Given the description of an element on the screen output the (x, y) to click on. 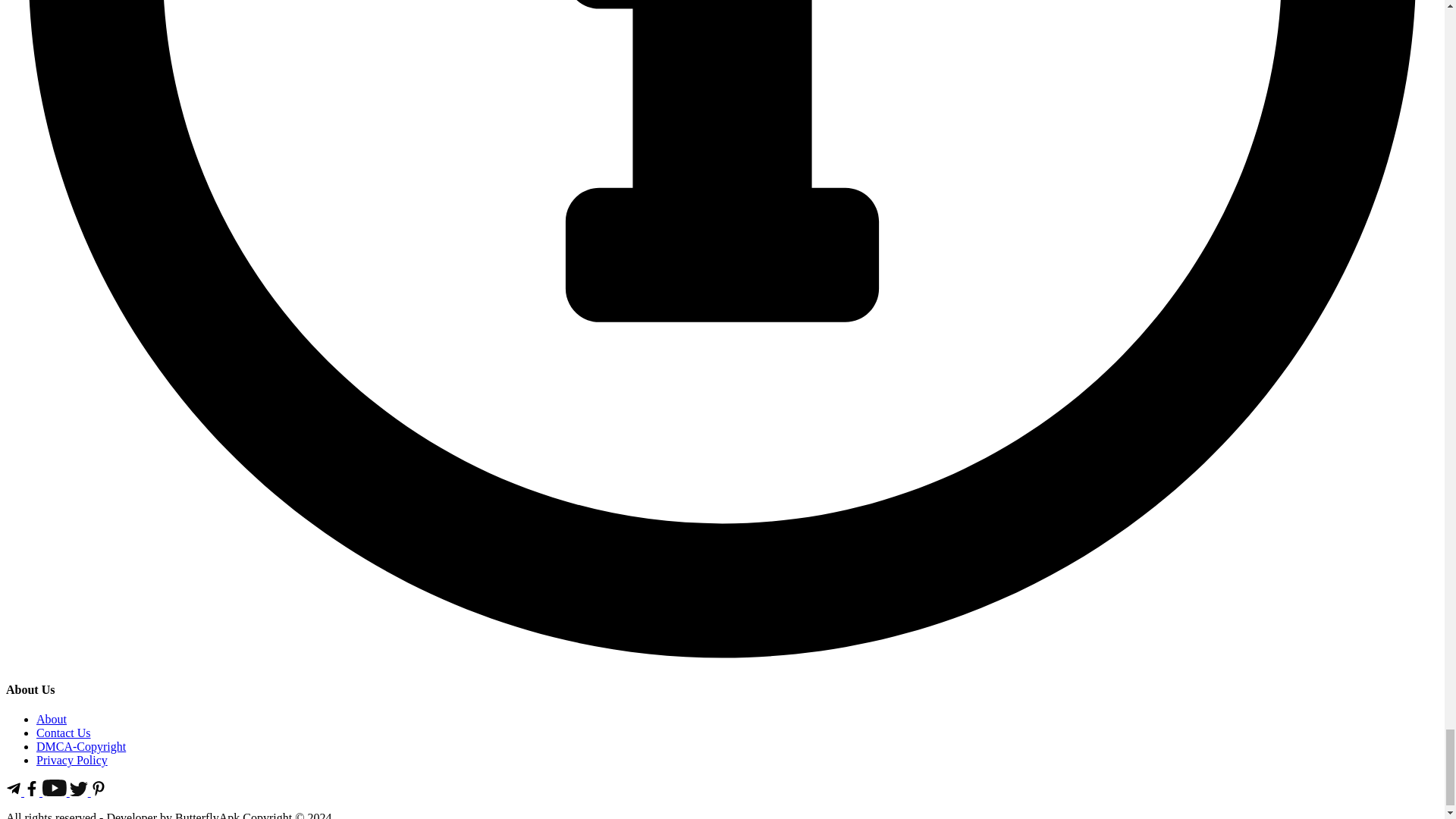
Privacy Policy (71, 759)
Contact Us (63, 732)
About (51, 718)
DMCA-Copyright (80, 746)
